Given the description of an element on the screen output the (x, y) to click on. 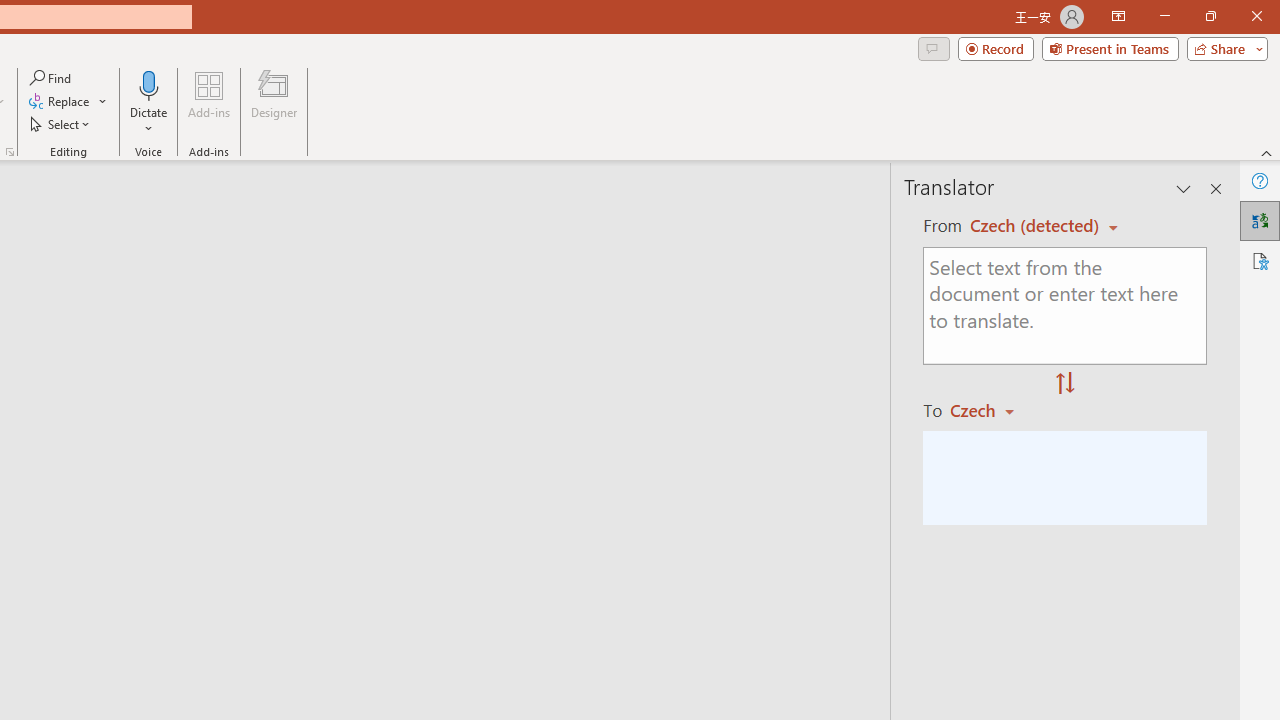
Format Object... (9, 151)
Translator (1260, 220)
Help (1260, 180)
Accessibility (1260, 260)
Close pane (1215, 188)
Replace... (68, 101)
Comments (933, 48)
Select (61, 124)
Find... (51, 78)
Ribbon Display Options (1118, 16)
Dictate (149, 84)
Task Pane Options (1183, 188)
Swap "from" and "to" languages. (1065, 383)
Czech (991, 409)
